Given the description of an element on the screen output the (x, y) to click on. 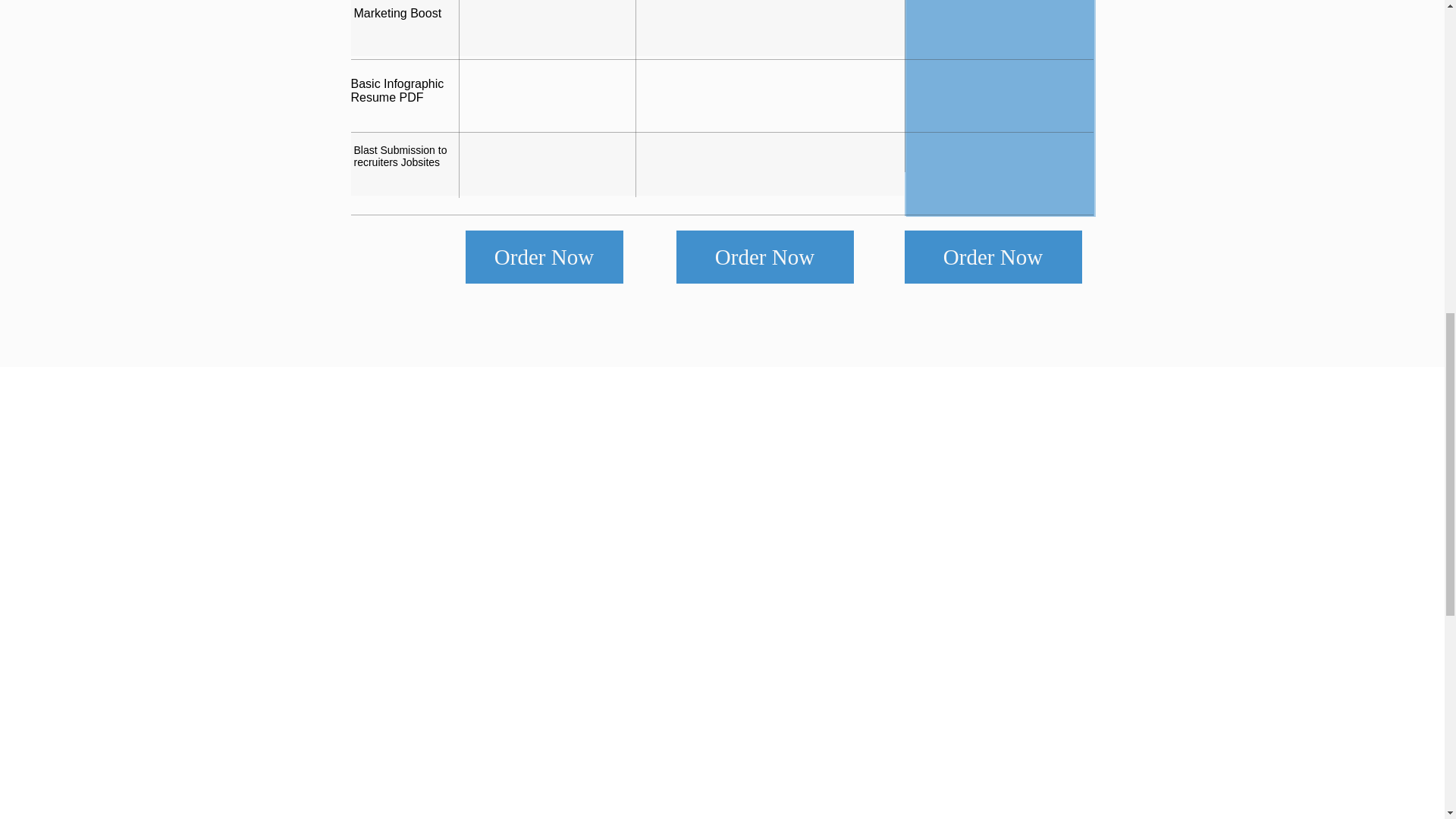
Order Now (544, 256)
Add to Cart (314, 147)
Order Now (992, 256)
Add to Cart (62, 147)
Add to Cart (644, 147)
Order Now (765, 256)
